Given the description of an element on the screen output the (x, y) to click on. 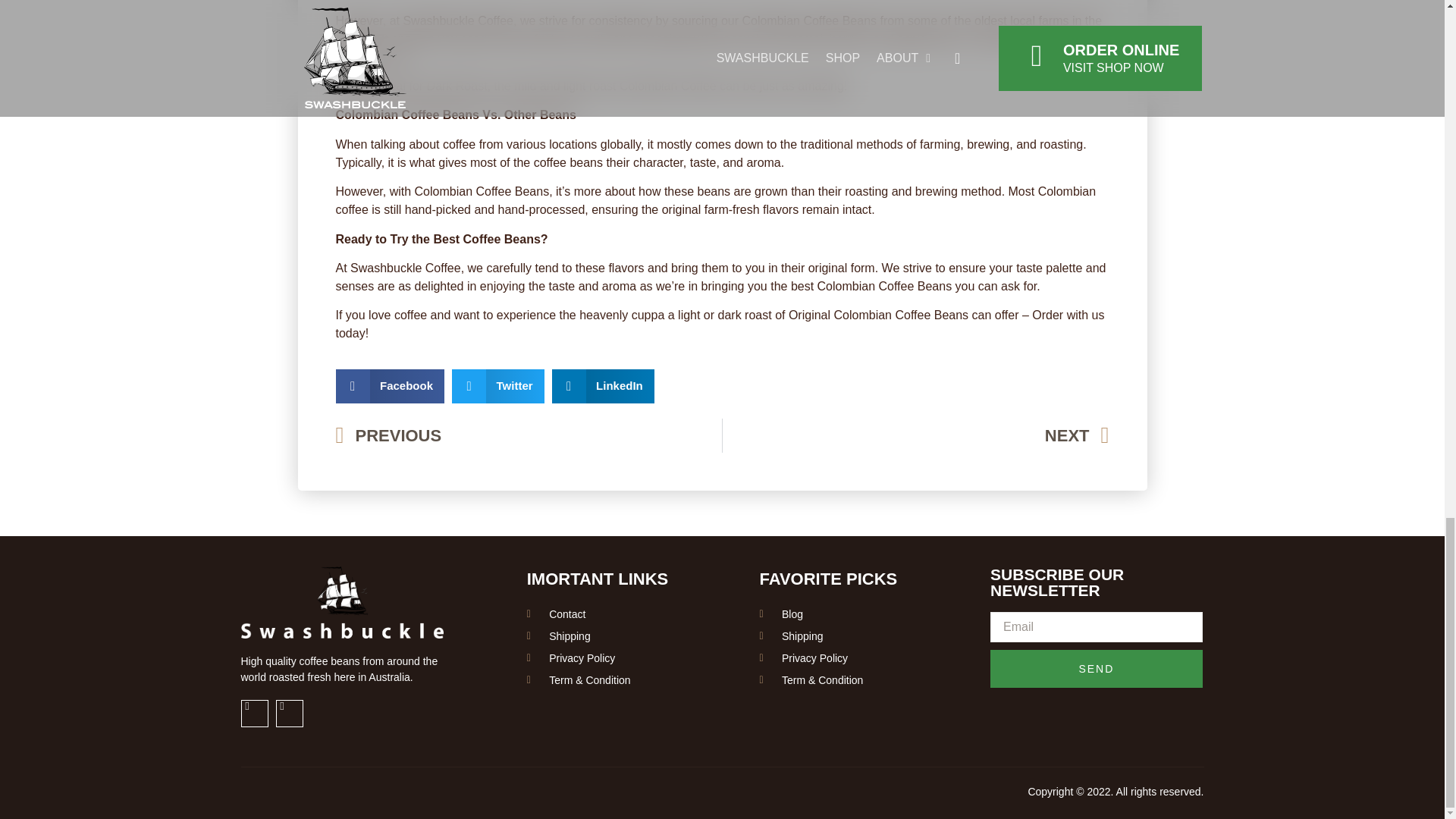
PREVIOUS (528, 435)
Contact (624, 614)
Privacy Policy (624, 658)
Shipping (624, 636)
NEXT (915, 435)
Privacy Policy (859, 658)
Shipping (859, 636)
Blog (859, 614)
